Given the description of an element on the screen output the (x, y) to click on. 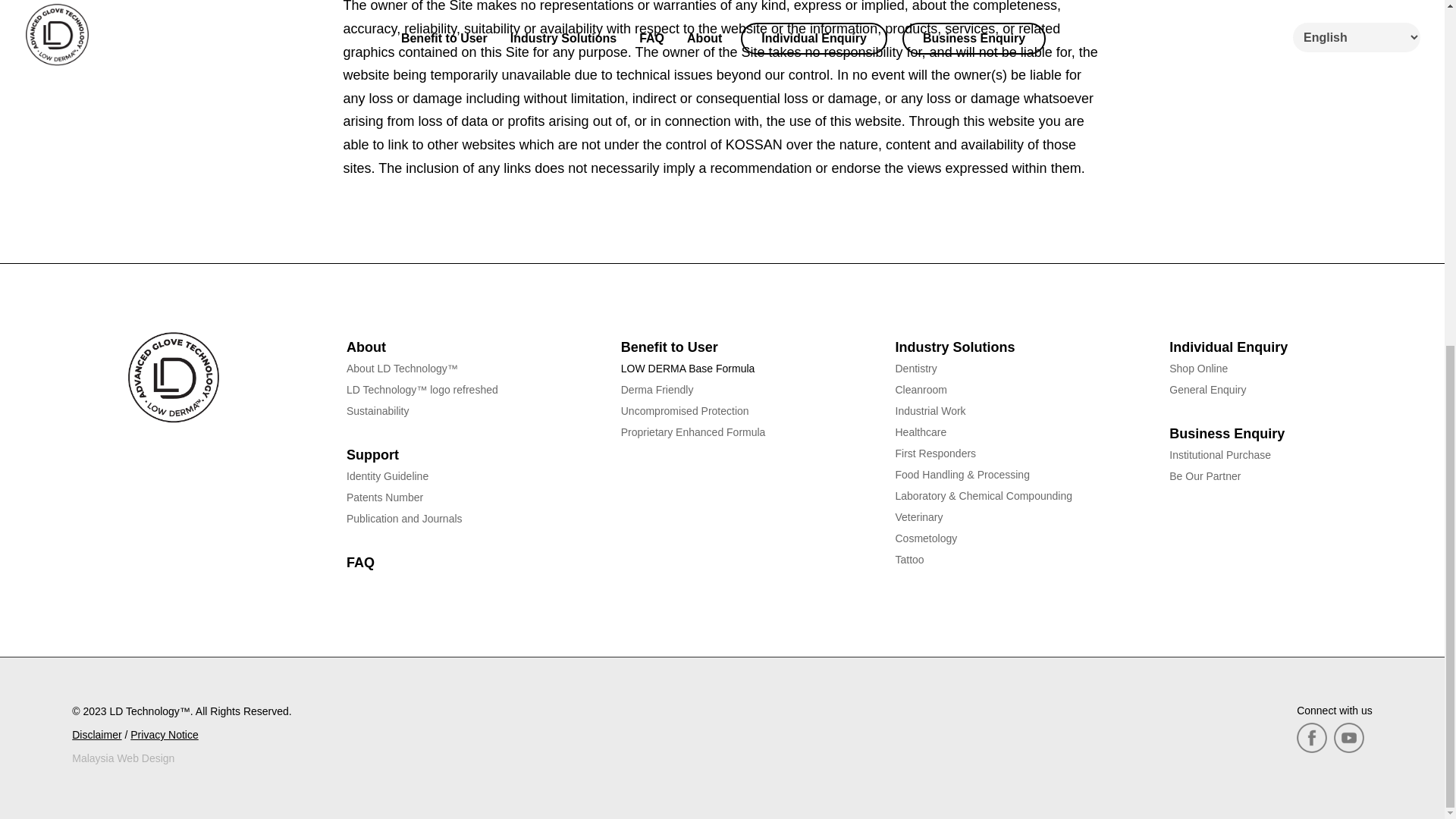
logo-ld-technology (173, 377)
Publication and Journals (404, 518)
Patents Number (384, 497)
Identity Guideline (387, 476)
Sustainability (377, 410)
